Given the description of an element on the screen output the (x, y) to click on. 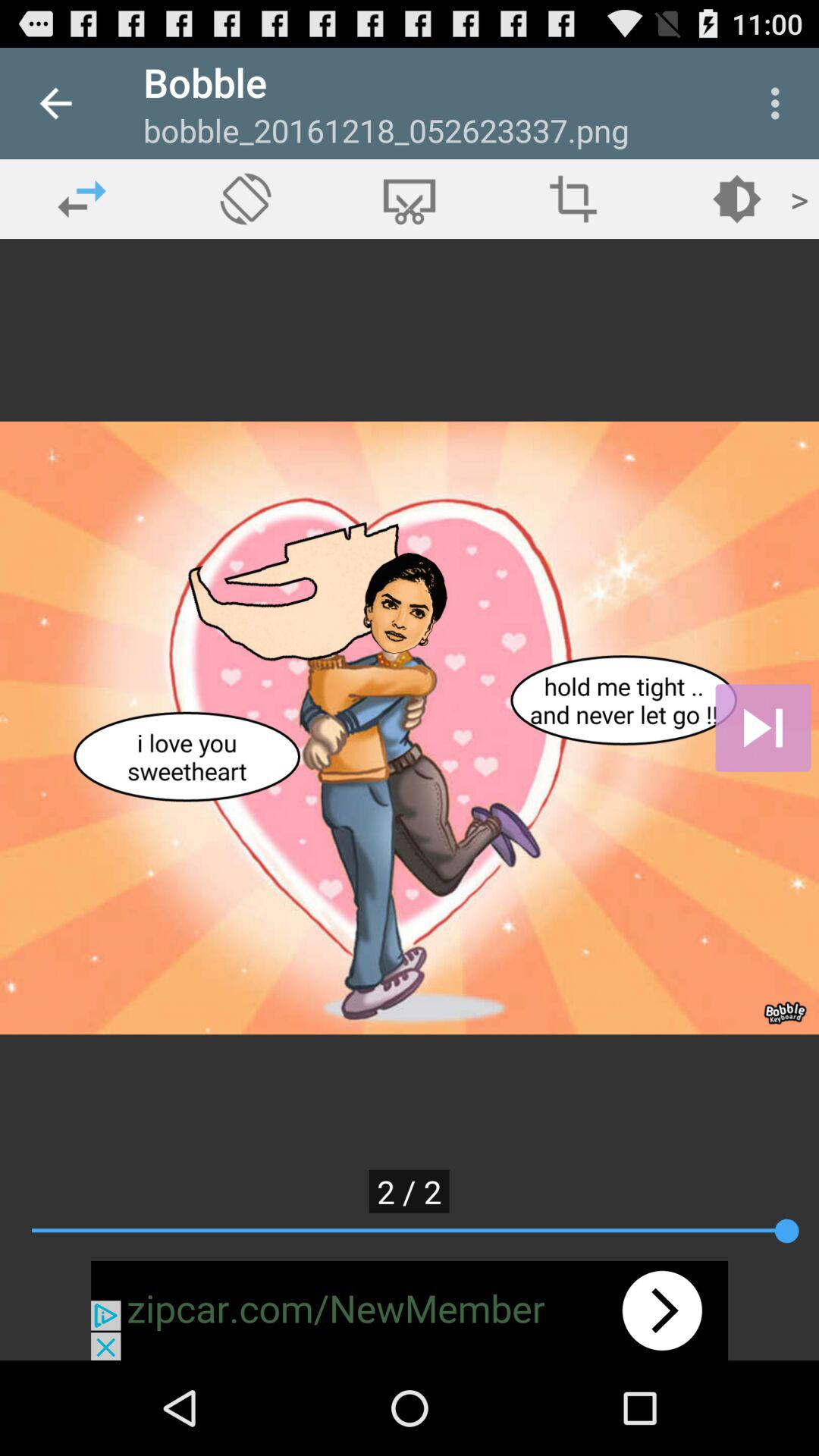
next (763, 727)
